Given the description of an element on the screen output the (x, y) to click on. 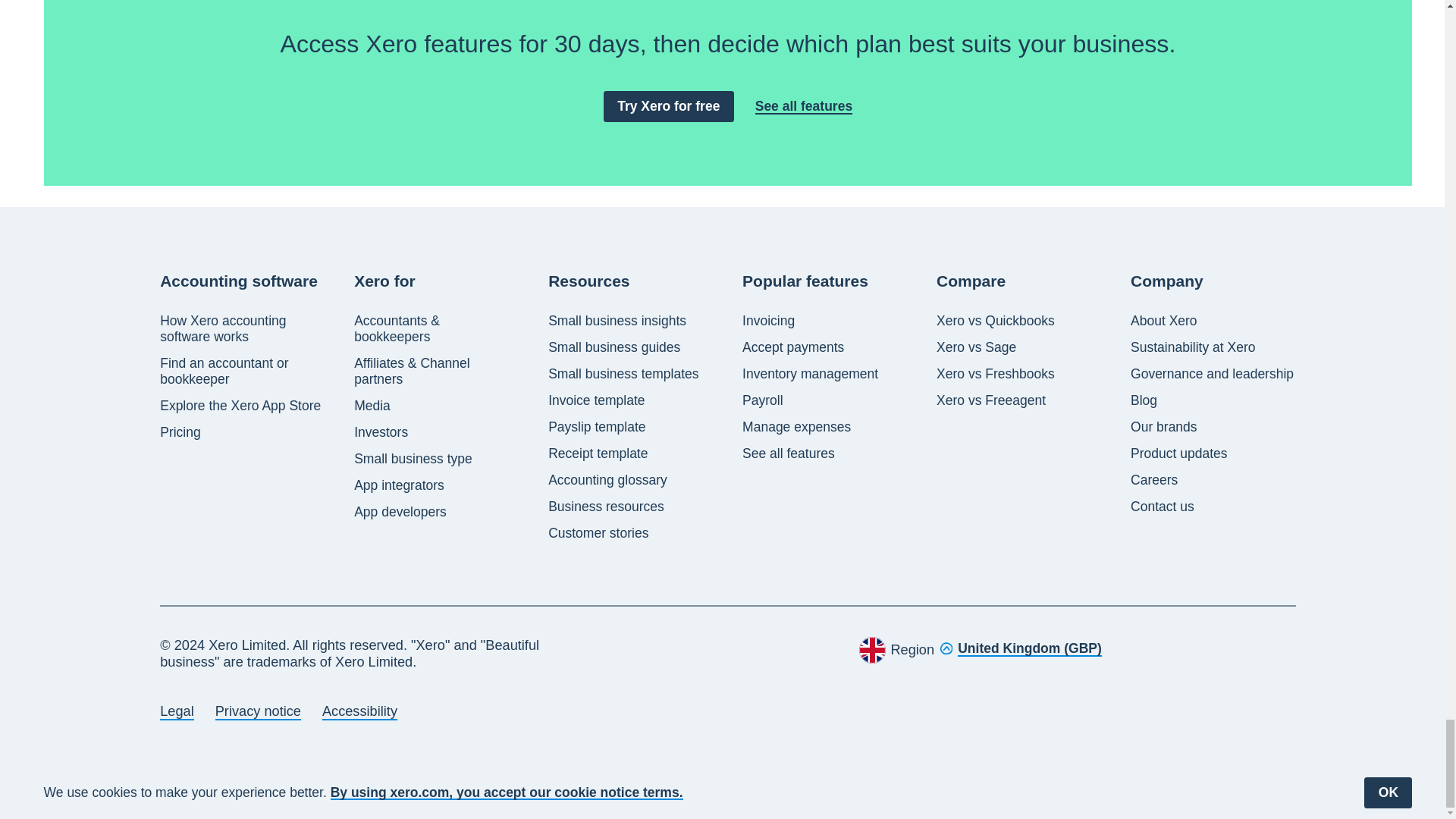
How Xero accounting software works (242, 328)
See all features (803, 106)
Find an accountant or bookkeeper (242, 371)
Try Xero for free (668, 106)
Explore the Xero App Store (240, 406)
